Given the description of an element on the screen output the (x, y) to click on. 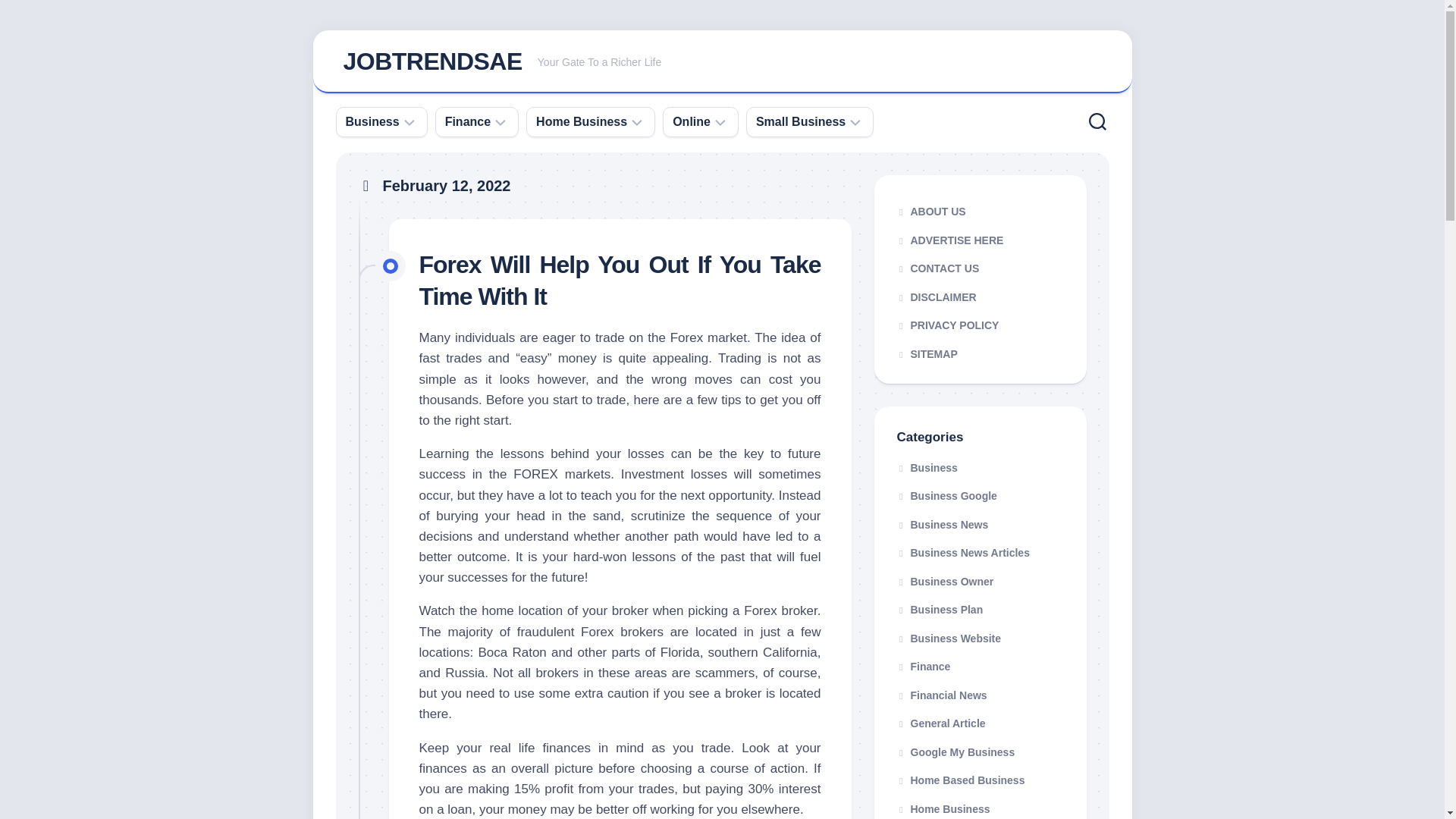
Business (372, 121)
ABOUT US (979, 212)
CONTACT US (979, 268)
ADVERTISE HERE (979, 240)
Small Business (800, 121)
JOBTRENDSAE (722, 62)
Home Business (431, 61)
Online (581, 121)
Finance (691, 121)
Forex Will Help You Out If You Take Time With It (467, 121)
